Given the description of an element on the screen output the (x, y) to click on. 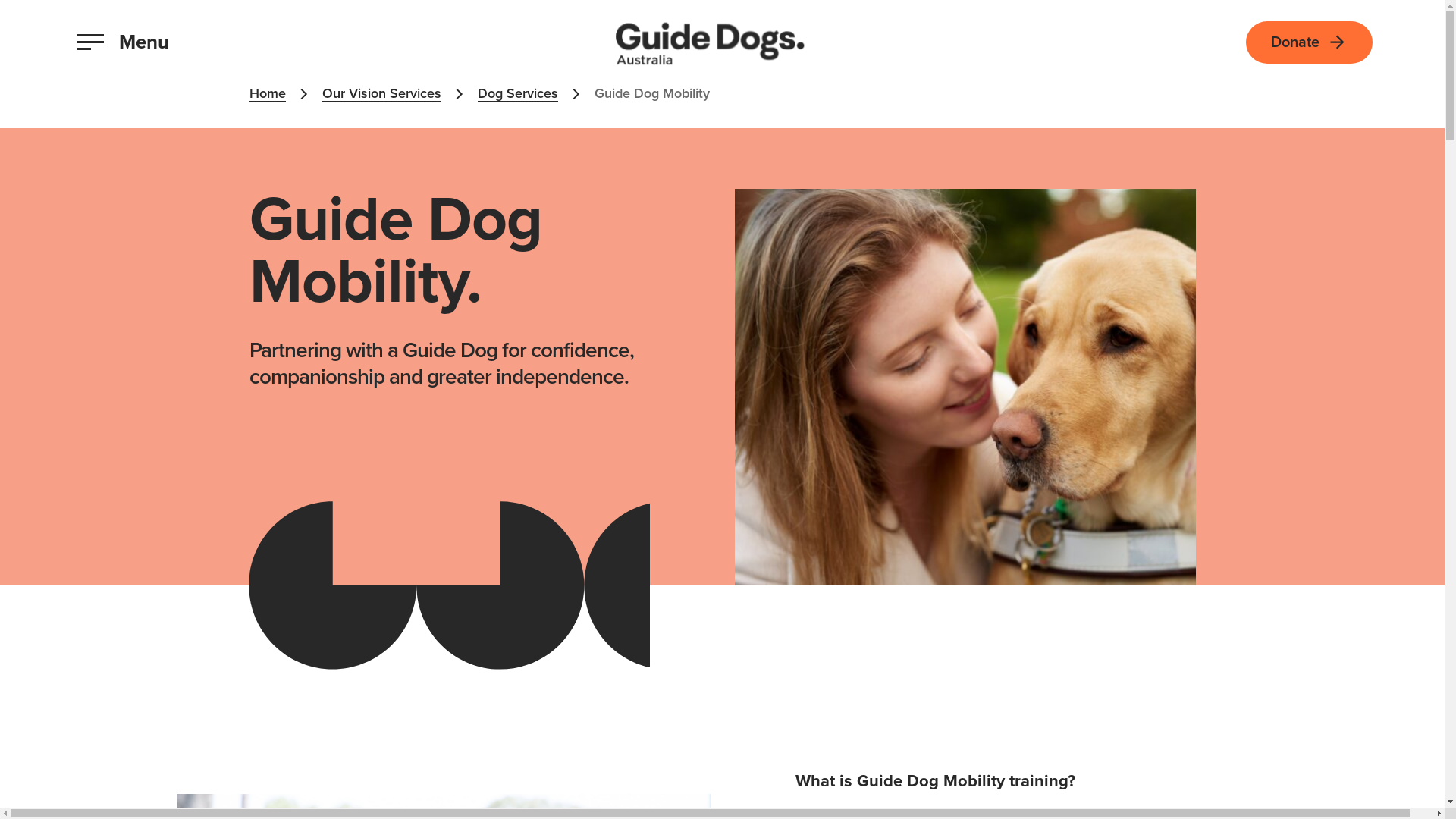
Guide Dog Mobility Element type: text (651, 93)
Donate Element type: text (1308, 41)
Menu Element type: text (122, 42)
Dog Services Element type: text (517, 93)
Our Vision Services Element type: text (380, 93)
Home Element type: text (266, 93)
